Given the description of an element on the screen output the (x, y) to click on. 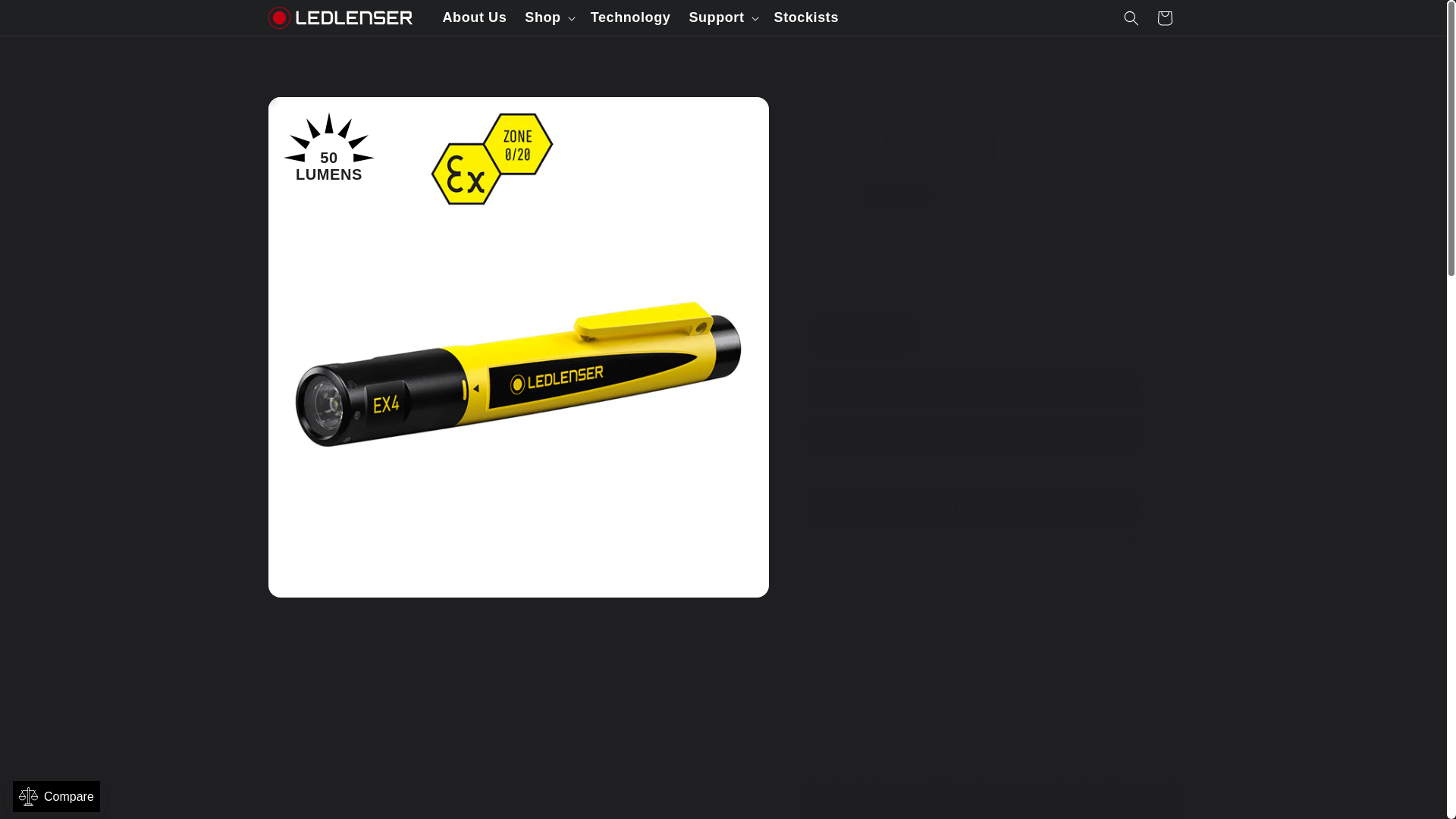
Add to compare (973, 509)
1 (860, 334)
Open toolbar (56, 796)
